Given the description of an element on the screen output the (x, y) to click on. 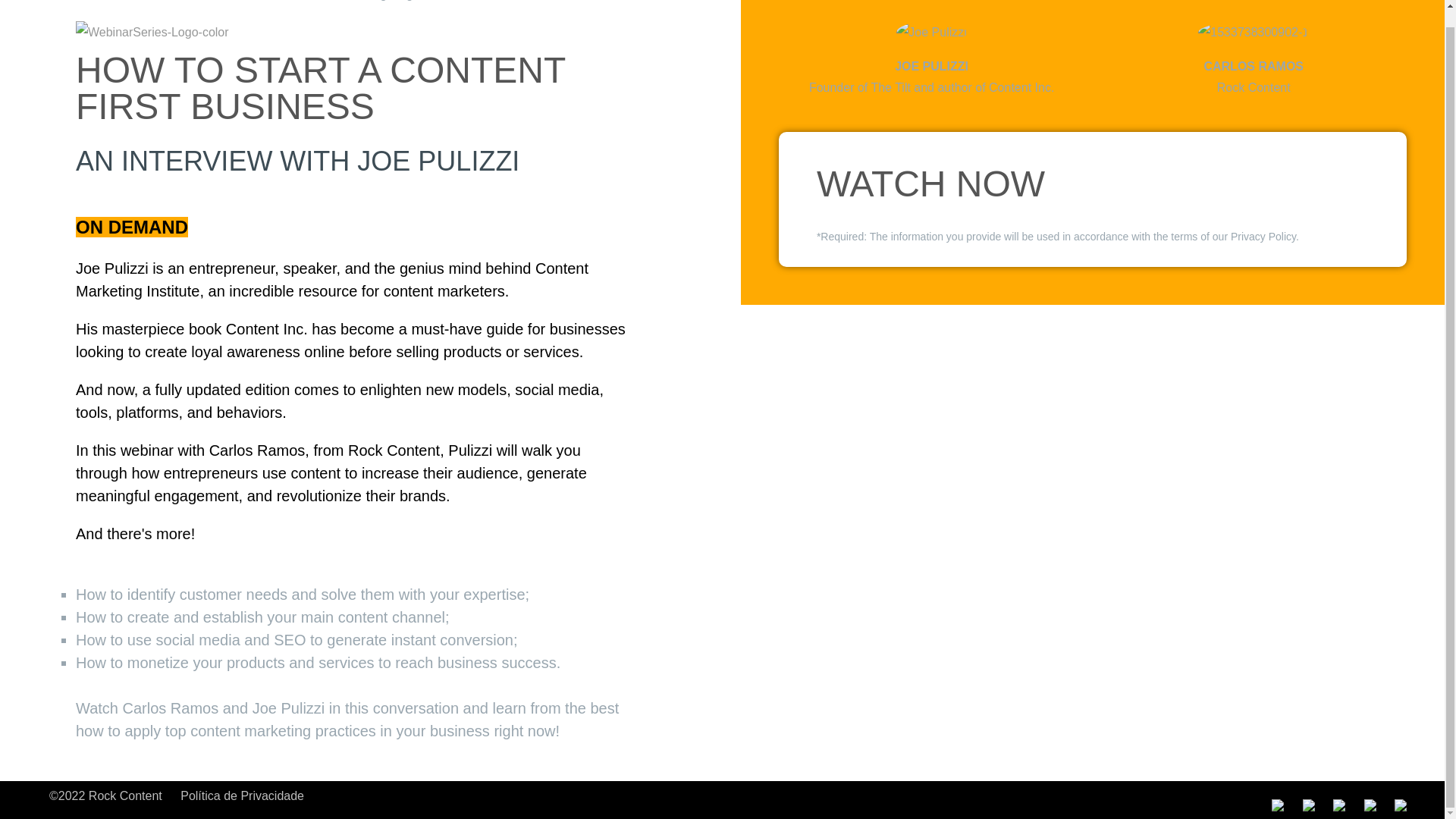
Joe Pulizzi (931, 32)
Jam Sessions Lighting bolt-black (373, 2)
WebinarSeries-Logo-color (151, 32)
1533738300902-1 (1253, 32)
